Given the description of an element on the screen output the (x, y) to click on. 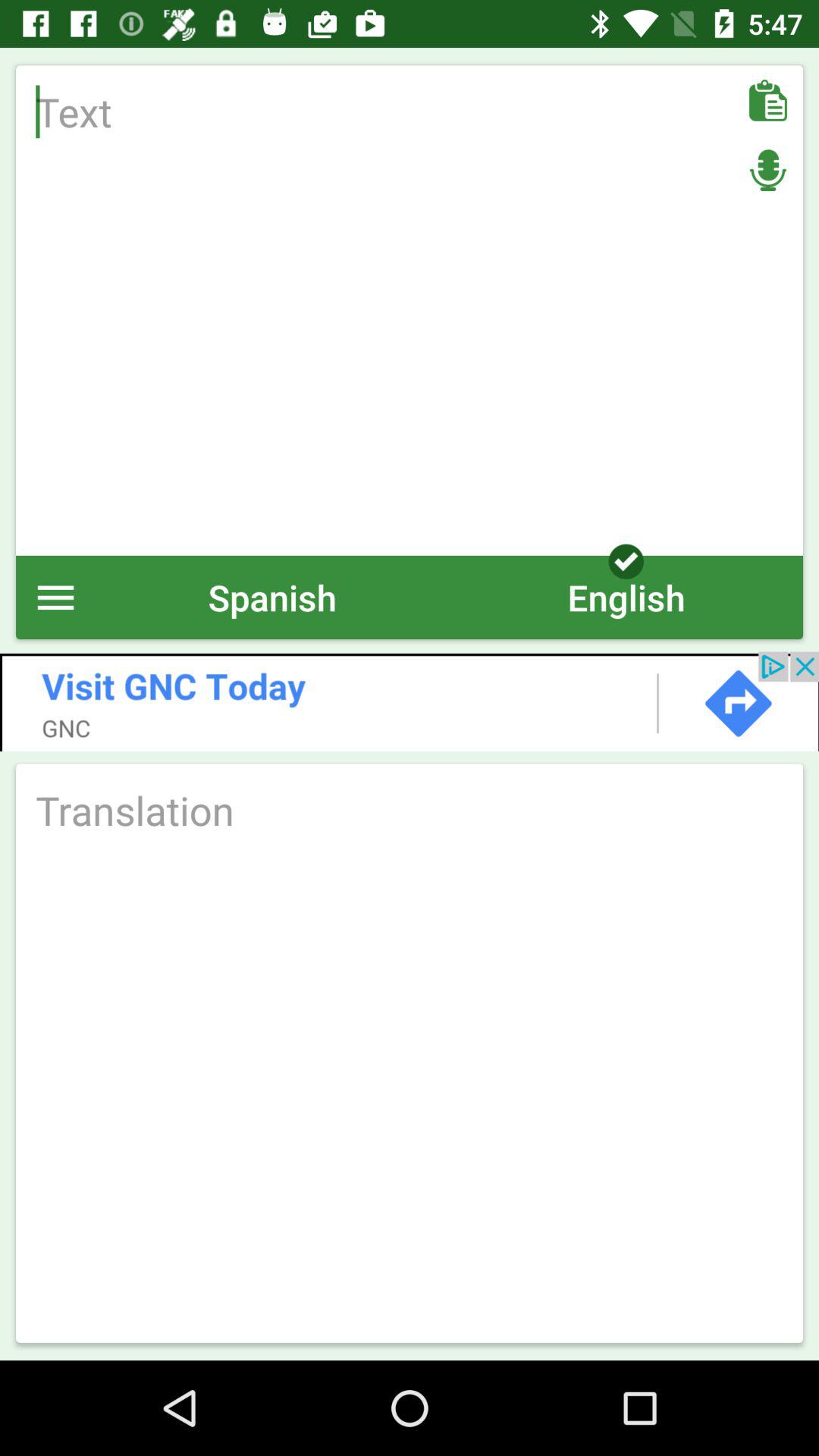
enter text area (409, 310)
